Given the description of an element on the screen output the (x, y) to click on. 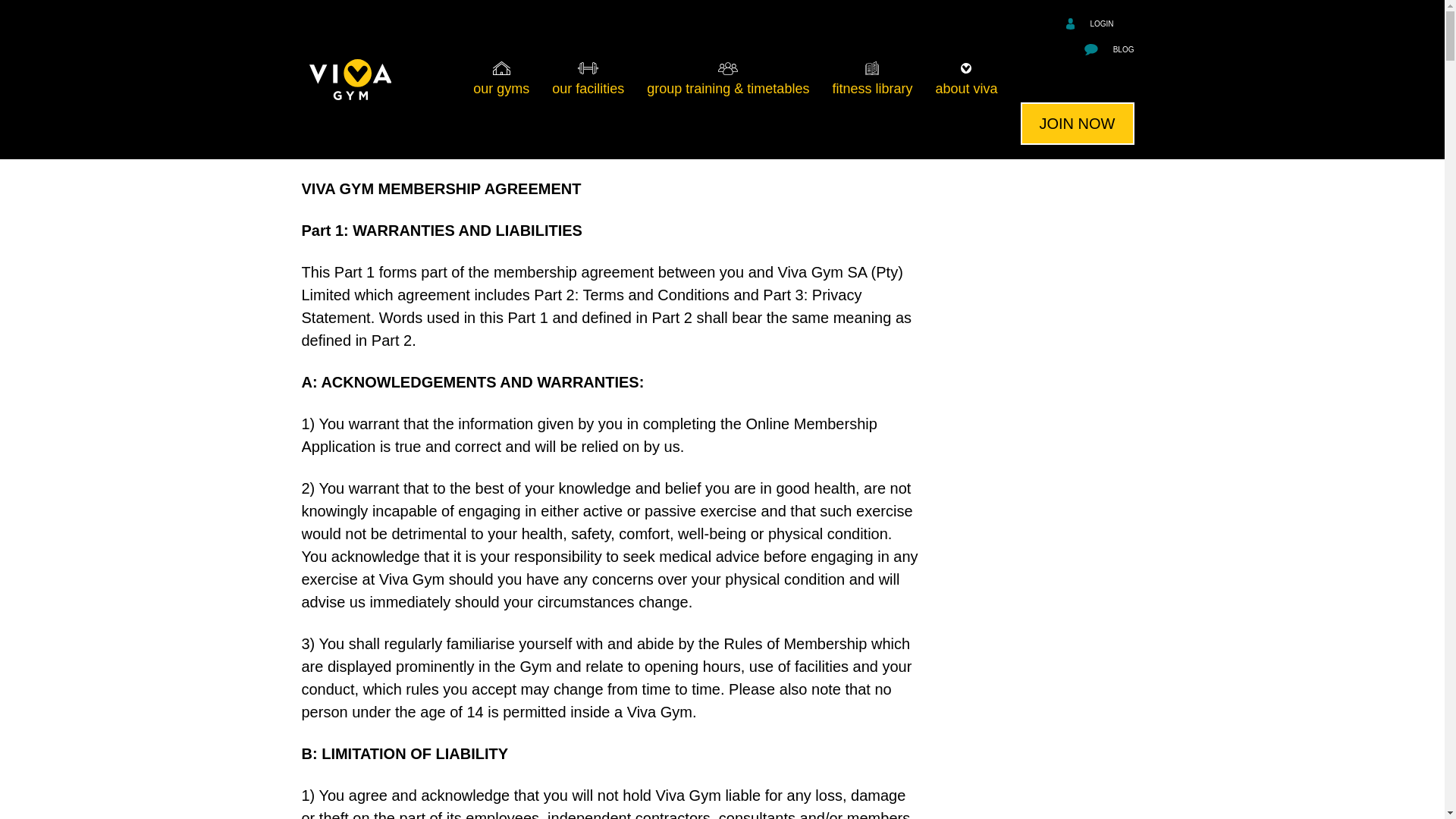
JOIN NOW (1077, 123)
BLOG (1109, 49)
our gyms (500, 79)
about viva (966, 79)
LOGIN (1099, 23)
our facilities (587, 79)
fitness library (872, 79)
